Given the description of an element on the screen output the (x, y) to click on. 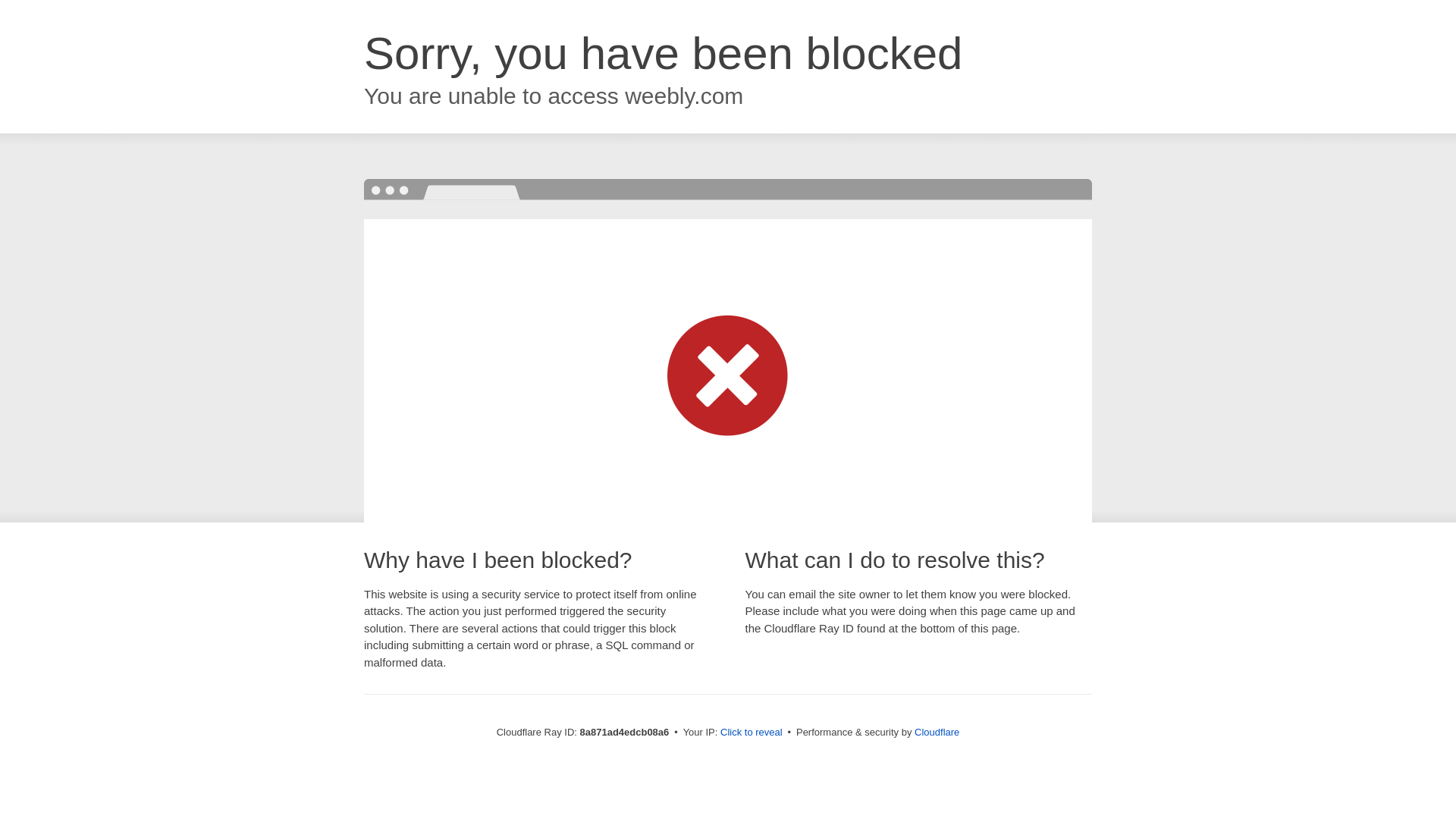
Click to reveal (751, 732)
Cloudflare (936, 731)
